Given the description of an element on the screen output the (x, y) to click on. 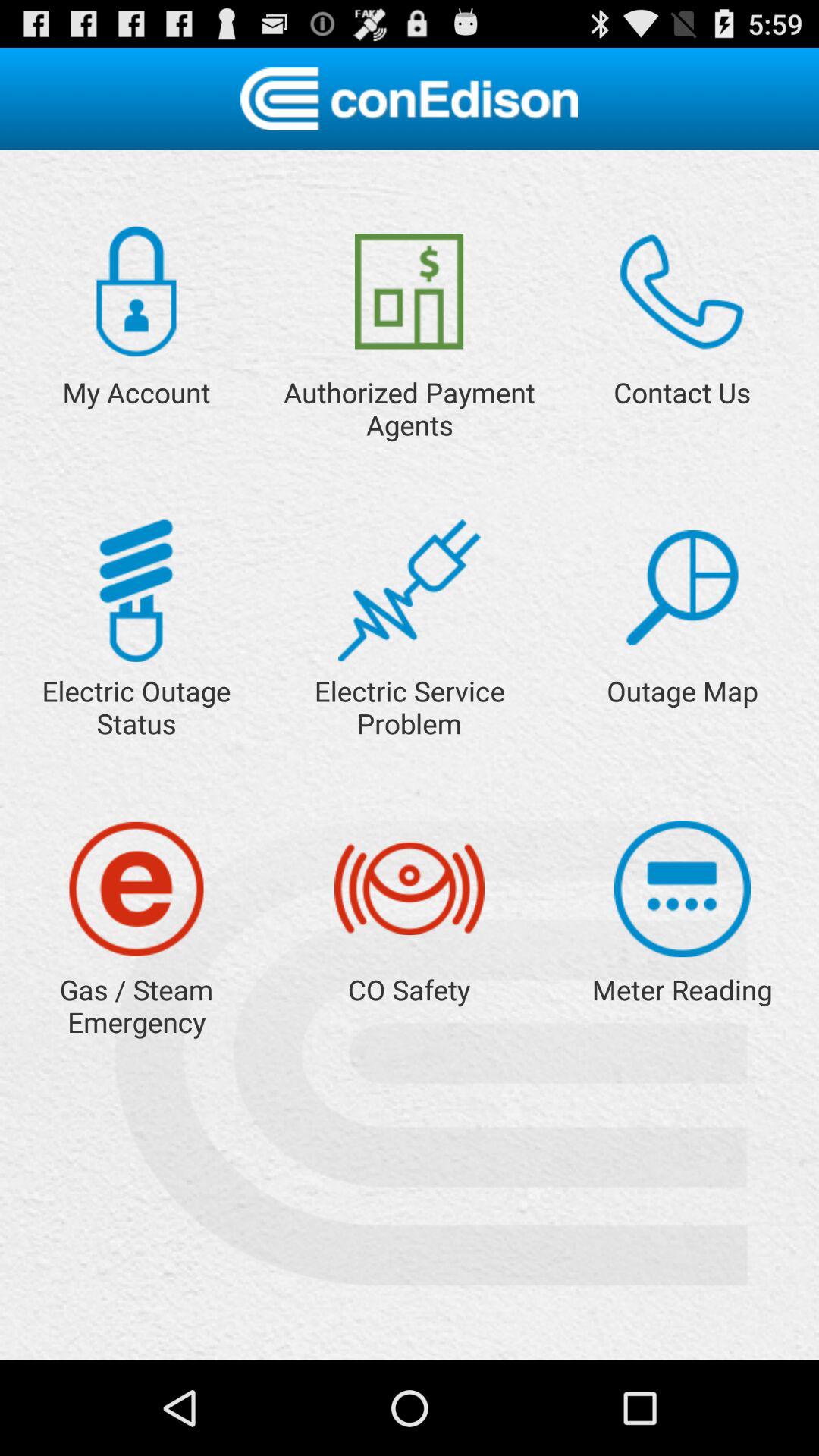
report electric service problem (409, 590)
